Given the description of an element on the screen output the (x, y) to click on. 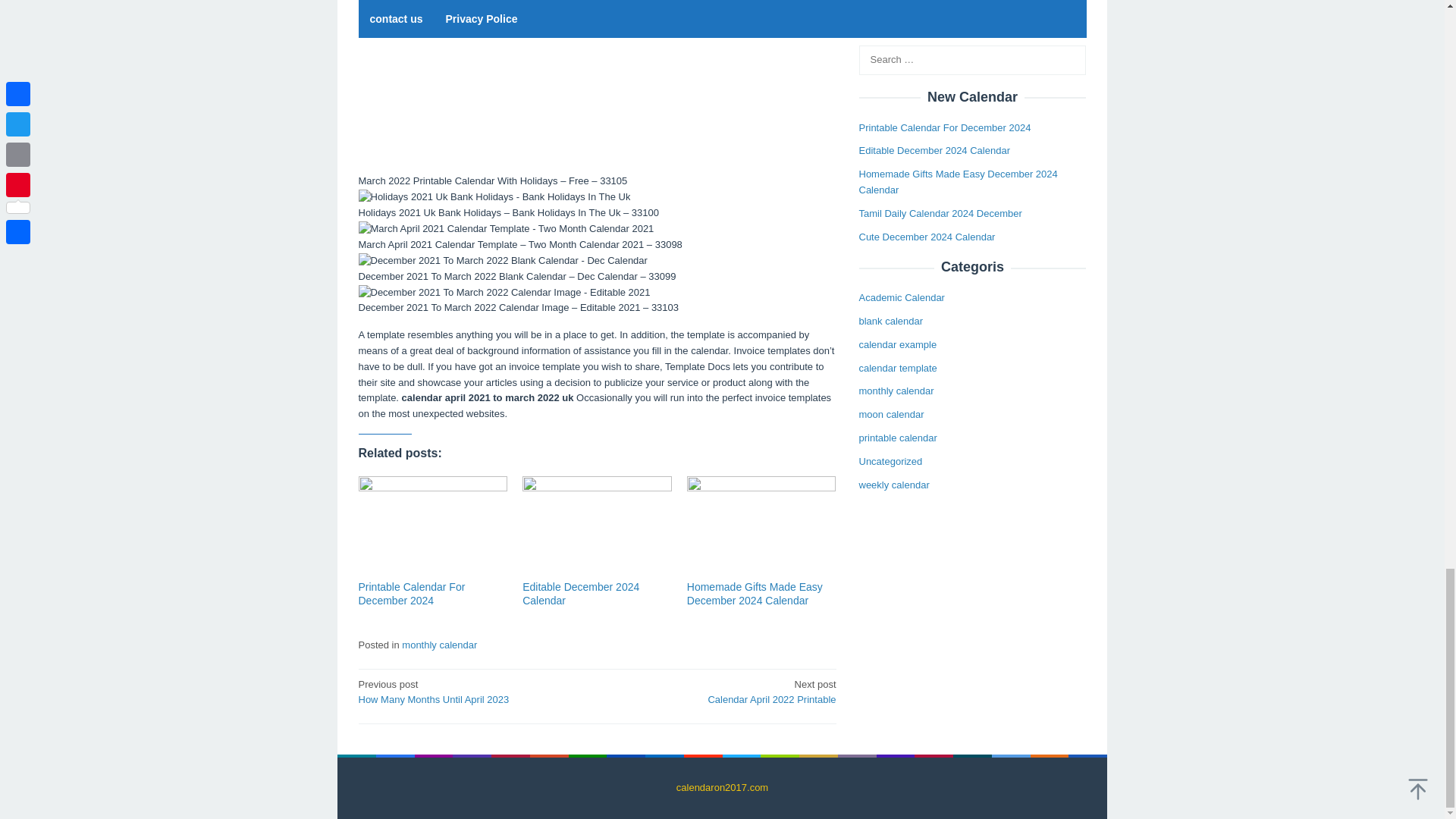
Editable December 2024 Calendar (580, 593)
Permalink to: Printable Calendar For December 2024 (432, 526)
March 2022 Printable Calendar With Holidays - Free (596, 86)
Permalink to: Printable Calendar For December 2024 (411, 593)
Holidays 2021 Uk Bank Holidays - Bank Holidays In The Uk (494, 197)
Printable Calendar For December 2024 (411, 593)
Homemade Gifts Made Easy December 2024 Calendar (754, 593)
March April 2021 Calendar Template - Two Month Calendar 2021 (505, 229)
